Given the description of an element on the screen output the (x, y) to click on. 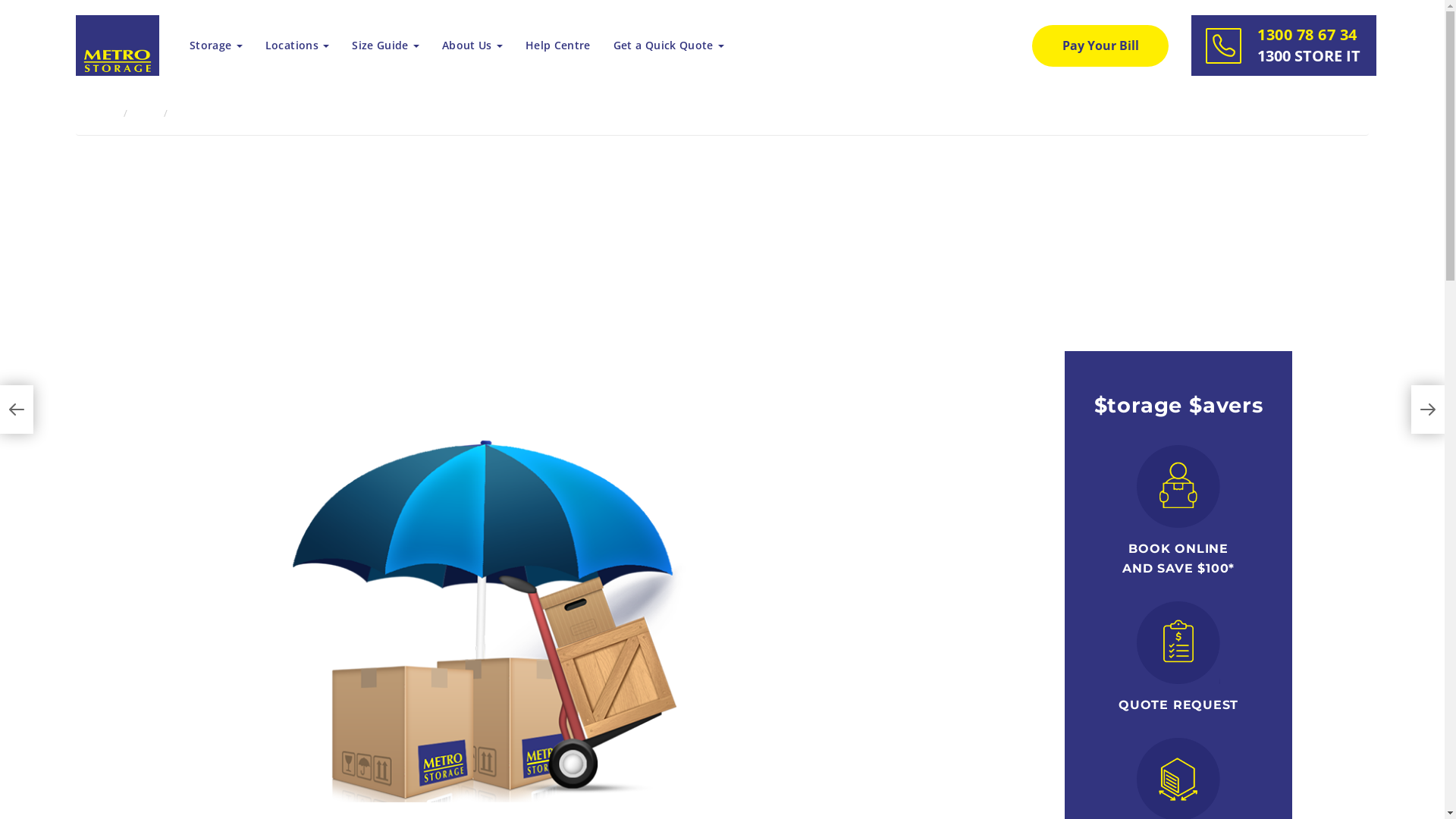
Size Guide Element type: text (385, 45)
Blog Element type: text (145, 112)
Get a Quick Quote Element type: text (668, 45)
Locations Element type: text (297, 45)
About Us Element type: text (472, 45)
Help Centre Element type: text (558, 45)
1300 78 67 34
1300 STORE IT Element type: text (1283, 45)
Storage Element type: text (216, 45)
Pay Your Bill Element type: text (1100, 45)
BOOK ONLINE
AND SAVE $100* Element type: text (1178, 558)
Home Element type: text (101, 112)
QUOTE REQUEST Element type: text (1178, 704)
